Given the description of an element on the screen output the (x, y) to click on. 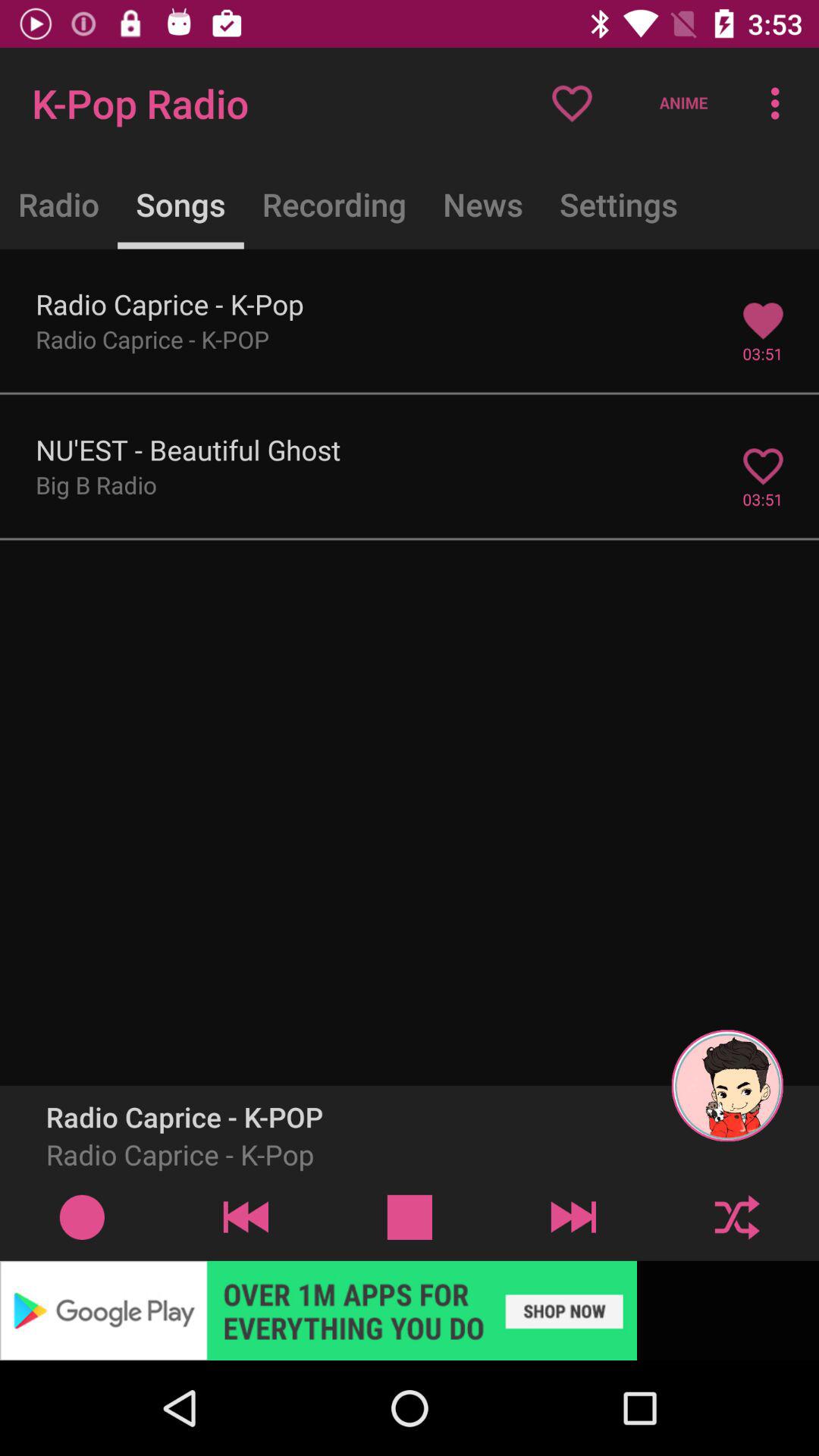
space where you access advertising (409, 1310)
